Given the description of an element on the screen output the (x, y) to click on. 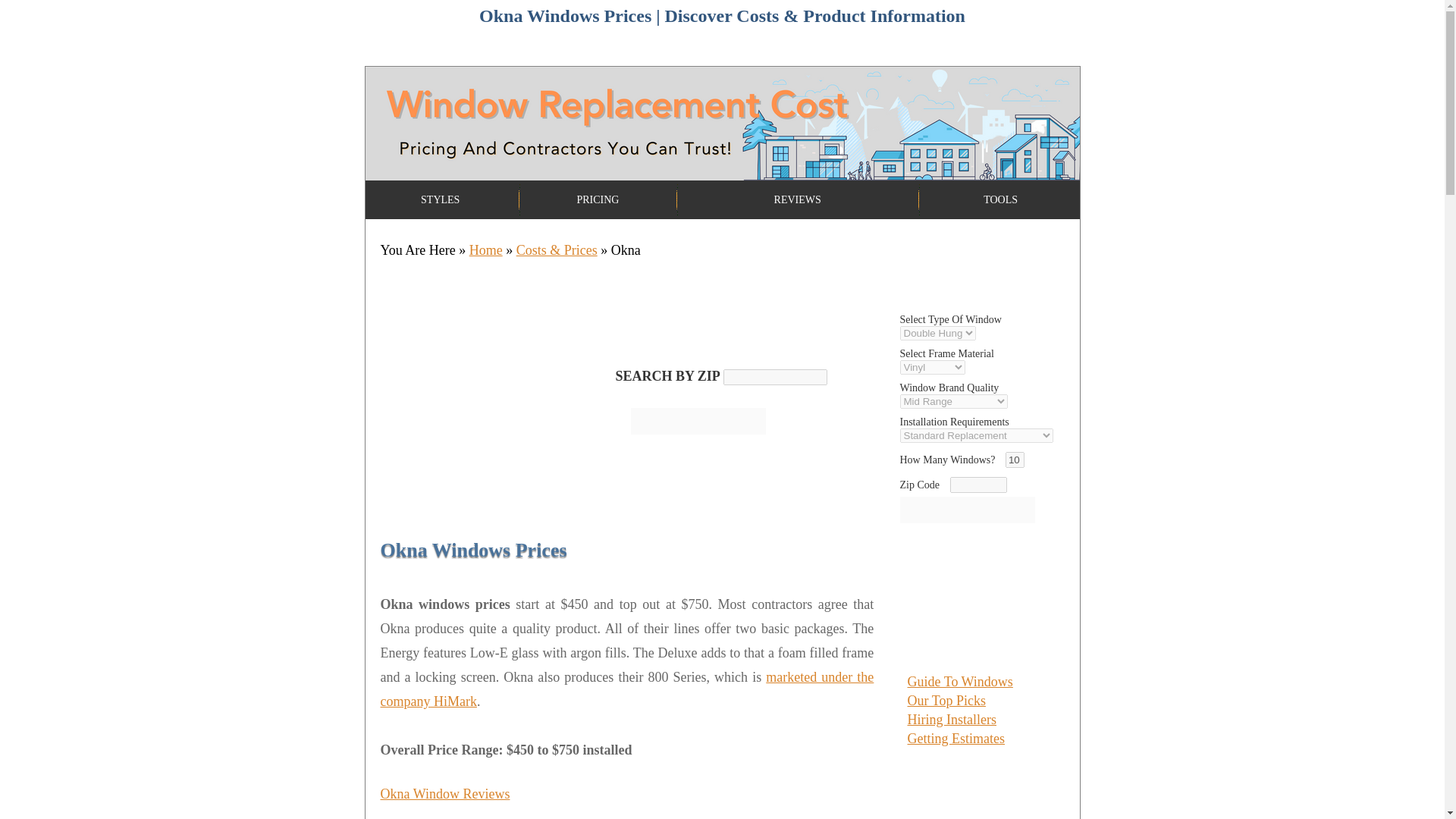
Guide To Windows (959, 681)
Our Top Picks (946, 700)
Okna Window Reviews (445, 793)
Search (697, 420)
REVIEWS (797, 199)
TOOLS (1000, 199)
marketed under the company HiMark (627, 689)
Search (697, 420)
PRICING (597, 199)
STYLES (440, 199)
Home (485, 249)
Getting Estimates (955, 738)
Hiring Installers (951, 719)
10 (1015, 459)
